Given the description of an element on the screen output the (x, y) to click on. 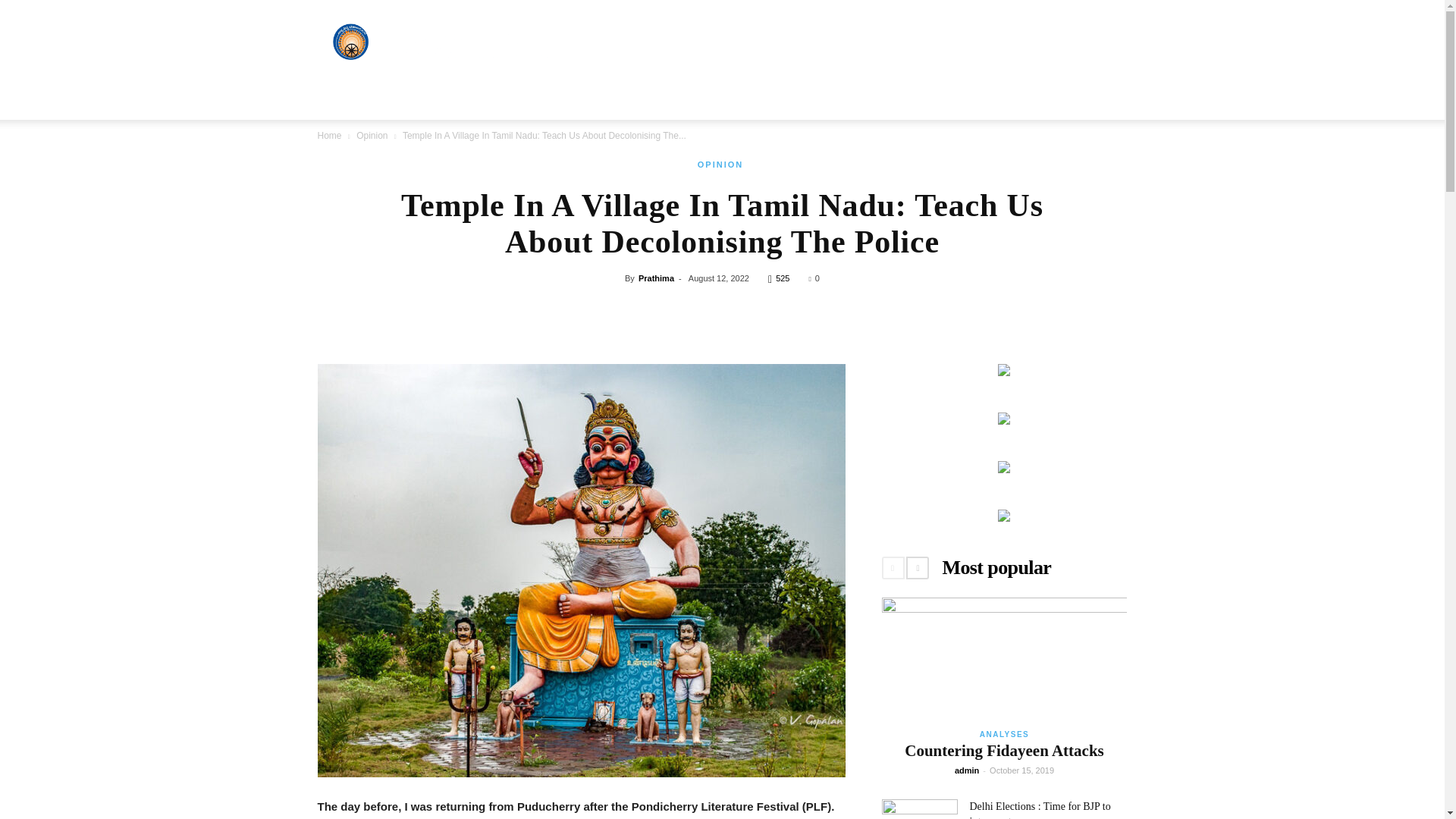
OPINION (720, 164)
View all posts in Opinion (371, 135)
ANALYSES (405, 101)
Home (328, 135)
Prathima (656, 277)
Opinion (371, 135)
OPINION (758, 101)
0 (814, 277)
HOME (343, 101)
INTERACTIONS (676, 101)
Search (1085, 161)
E-MAGAZINE (833, 101)
CONTACT (981, 101)
REGIONAL (590, 101)
GALLERY (912, 101)
